Given the description of an element on the screen output the (x, y) to click on. 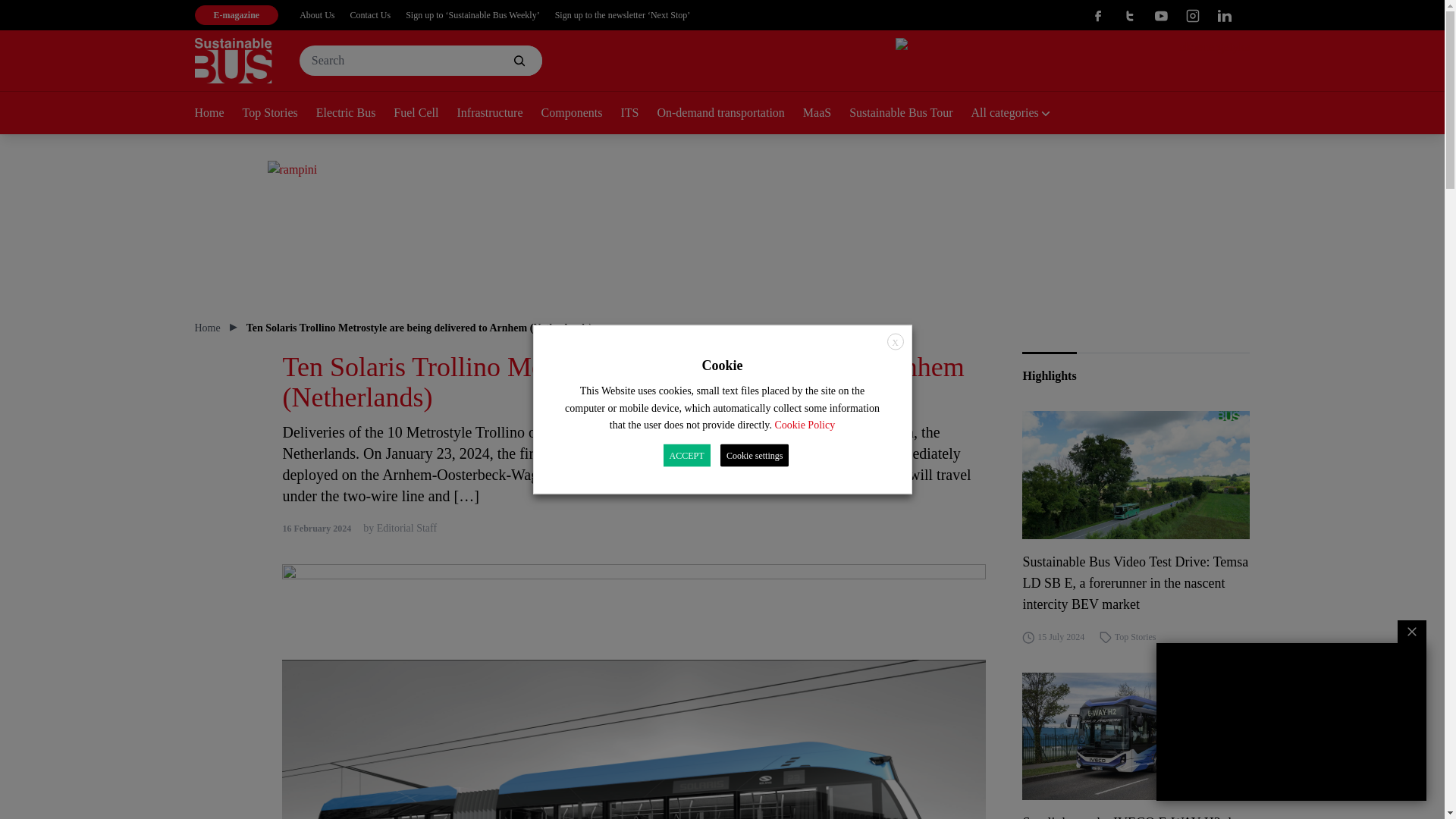
About Us (316, 14)
Home (217, 113)
On-demand transportation (729, 113)
YouTube video player (1291, 721)
Cerca: (420, 60)
Contact Us (370, 14)
ITS (638, 113)
Electric Bus (354, 113)
Sustainable Bus Tour (909, 113)
Close and Accept (895, 341)
E-magazine (235, 14)
Top Stories (279, 113)
Infrastructure (498, 113)
MaaS (825, 113)
